Given the description of an element on the screen output the (x, y) to click on. 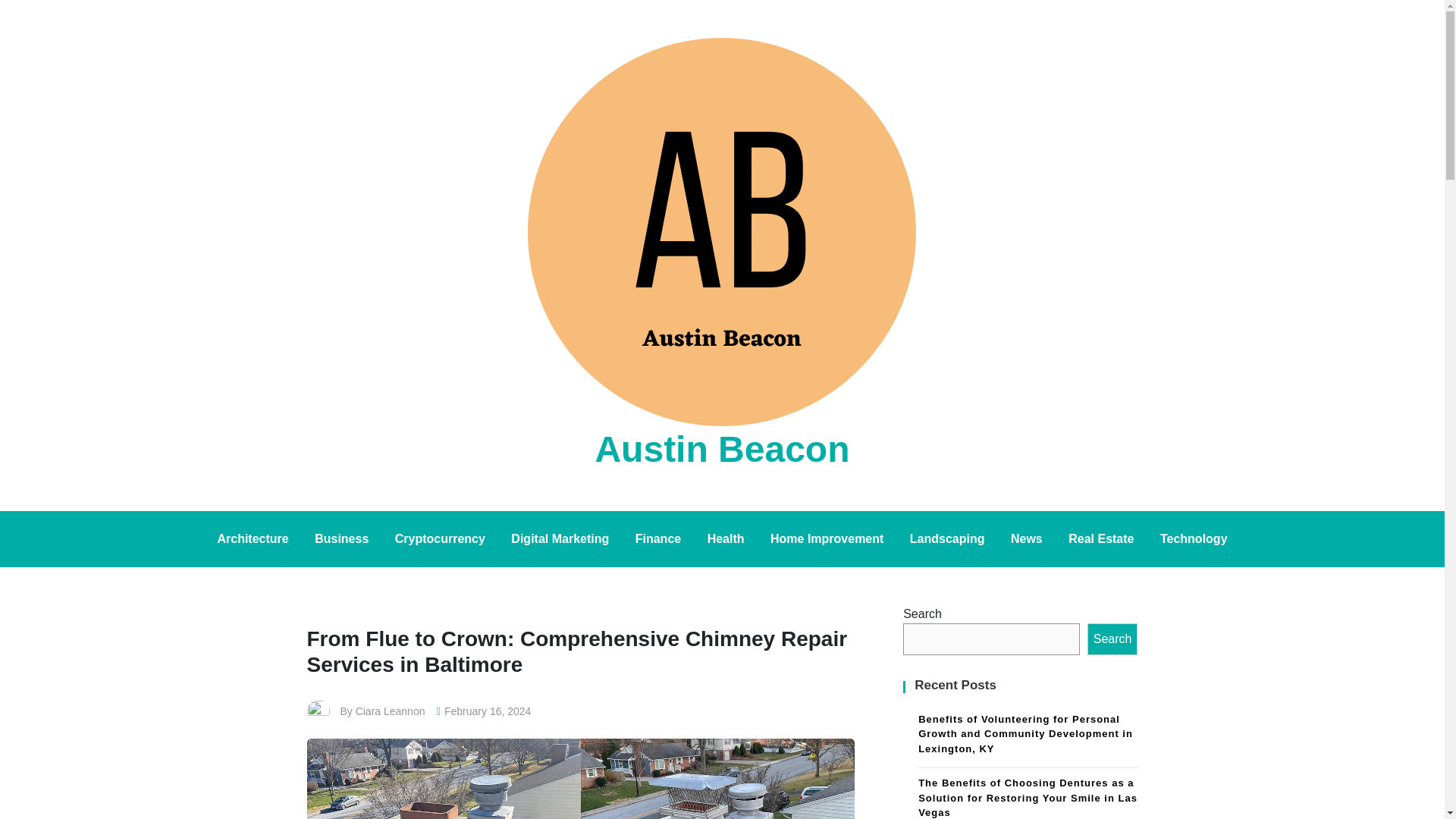
Digital Marketing (559, 538)
Business (341, 538)
Home Improvement (826, 538)
Health (725, 538)
Architecture (252, 538)
Technology (1193, 538)
Austin Beacon (721, 449)
Real Estate (1100, 538)
Landscaping (946, 538)
